Given the description of an element on the screen output the (x, y) to click on. 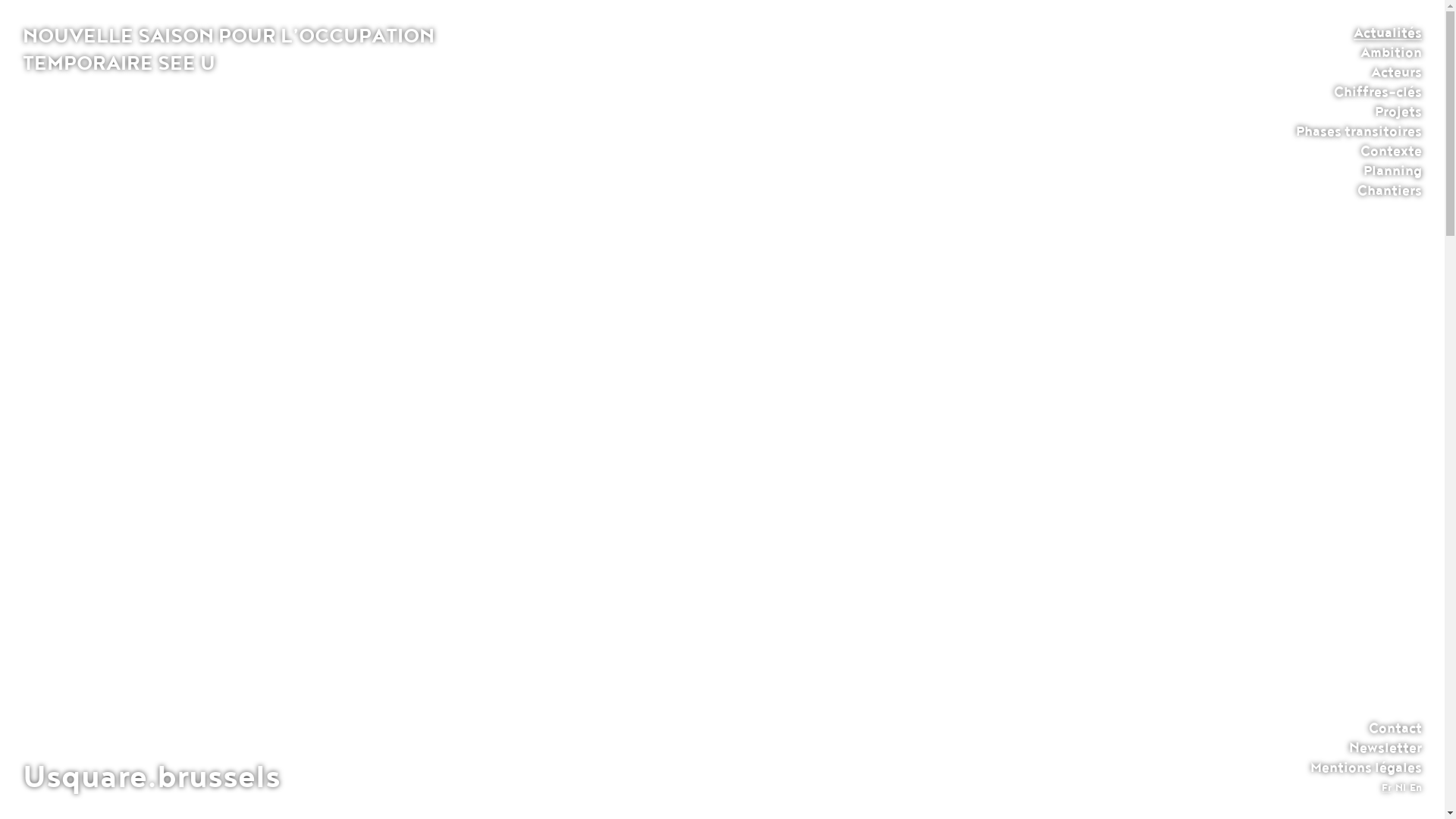
Phases transitoires Element type: text (1358, 131)
Usquare.brussels Element type: text (151, 777)
Contexte Element type: text (1390, 150)
Ambition Element type: text (1390, 52)
Chantiers Element type: text (1389, 190)
Planning Element type: text (1392, 170)
Newsletter Element type: text (1385, 747)
Contact Element type: text (1394, 727)
Nl Element type: text (1400, 787)
En Element type: text (1415, 787)
Acteurs Element type: text (1396, 71)
Projets Element type: text (1397, 111)
Fr Element type: text (1386, 787)
